Given the description of an element on the screen output the (x, y) to click on. 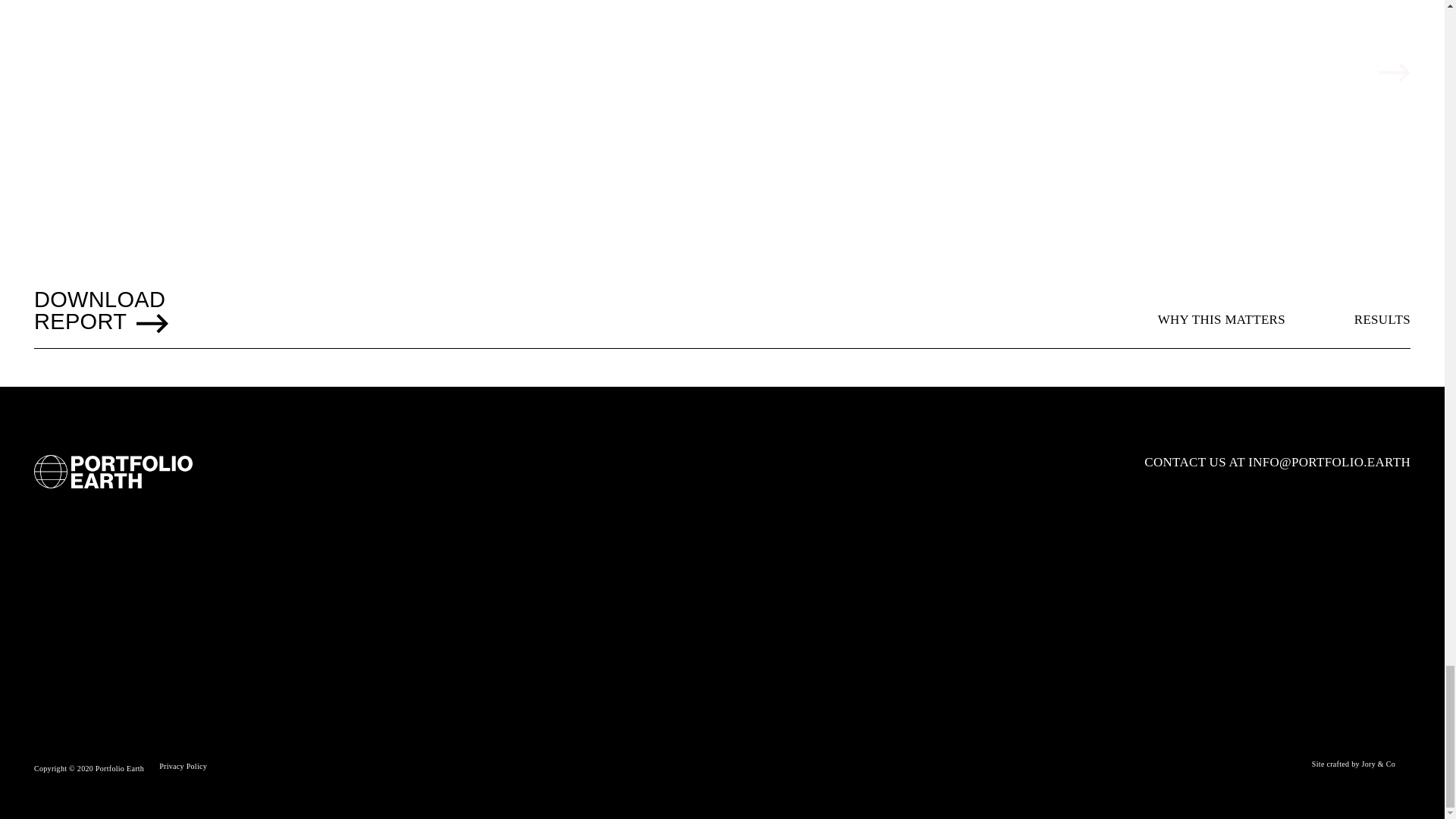
WHY THIS MATTERS (1221, 320)
RESULTS (1382, 320)
Privacy Policy (182, 766)
